Given the description of an element on the screen output the (x, y) to click on. 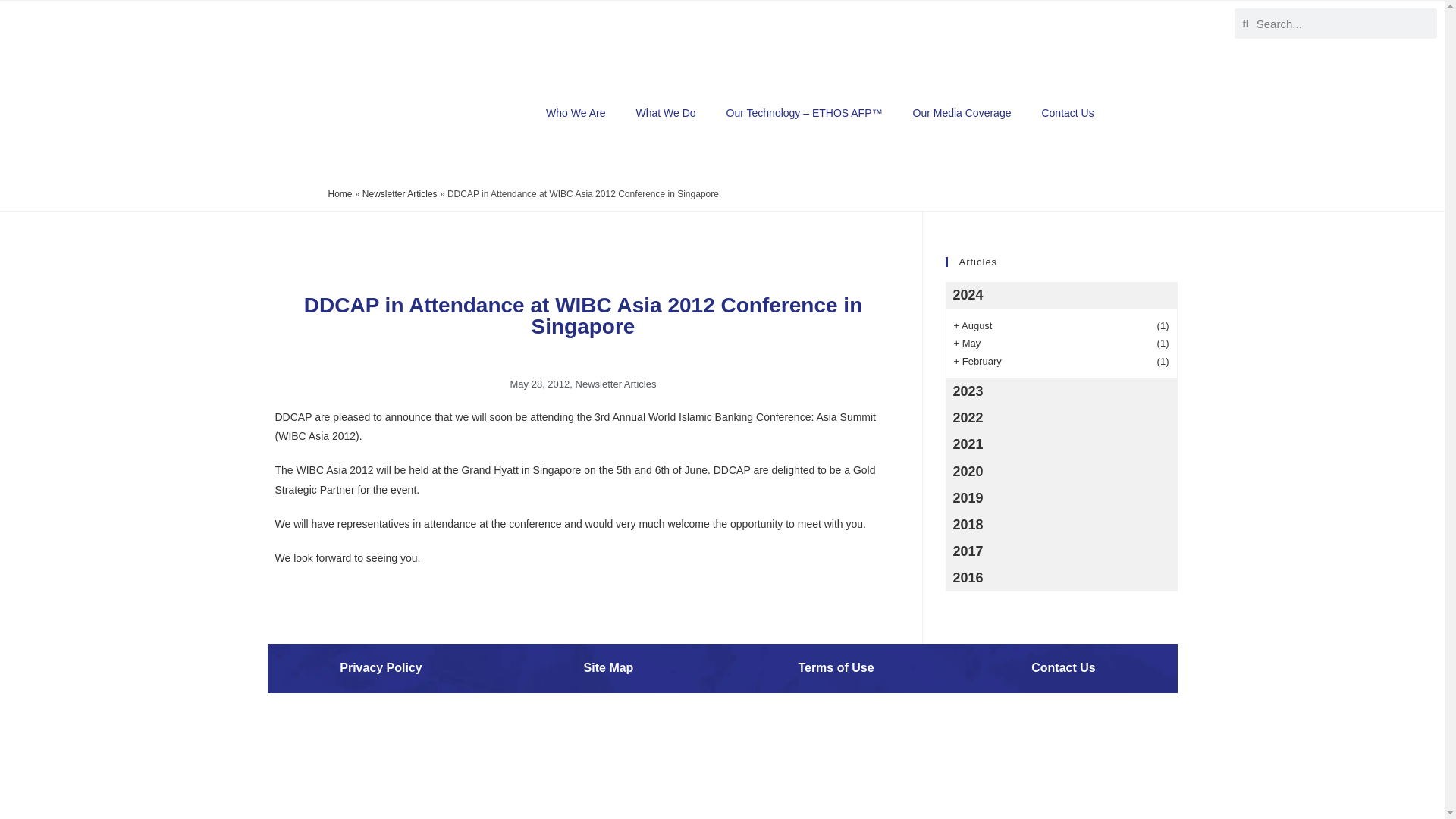
Our Media Coverage (962, 112)
Who We Are (575, 112)
Contact Us (1067, 112)
What We Do (665, 112)
